Given the description of an element on the screen output the (x, y) to click on. 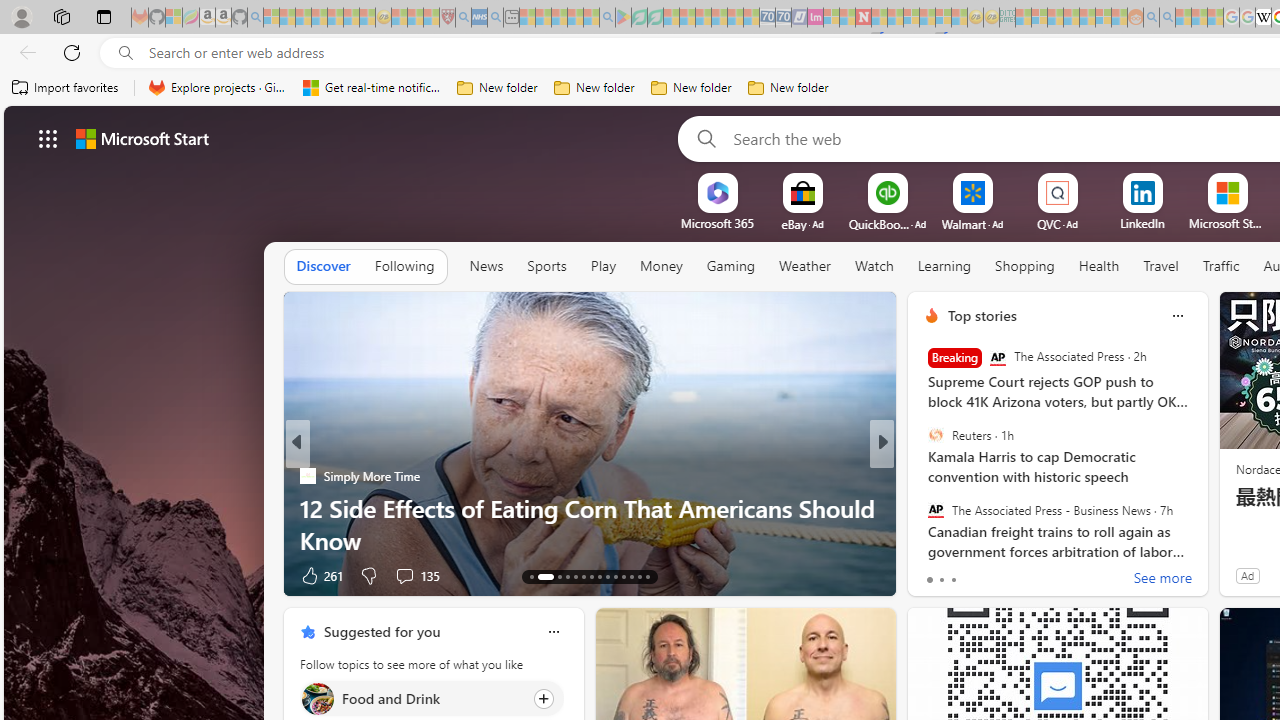
News (485, 267)
AutomationID: tab-21 (606, 576)
google - Search - Sleeping (607, 17)
AutomationID: tab-22 (614, 576)
AutomationID: tab-17 (574, 576)
Gaming (730, 267)
54 Like (934, 574)
utah sues federal government - Search - Sleeping (495, 17)
Eggs All Ways (923, 507)
View comments 31 Comment (1019, 575)
View comments 6 Comment (1019, 574)
